Given the description of an element on the screen output the (x, y) to click on. 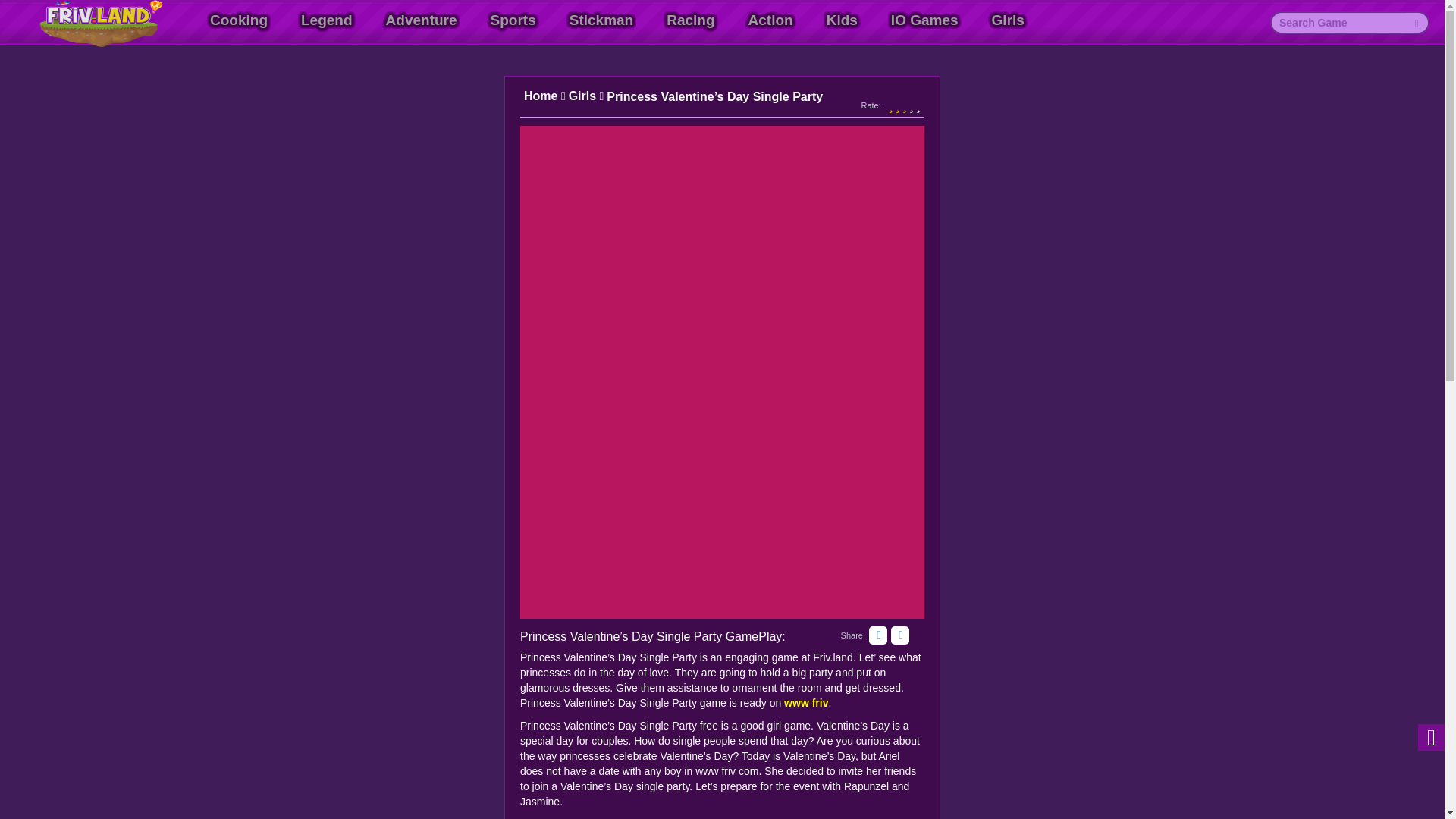
IO Games (924, 20)
Girls (586, 96)
Cooking (238, 20)
IO Games (924, 20)
Home (545, 96)
Legend (326, 20)
Legend (326, 20)
Sports (512, 20)
www (798, 702)
Adventure (421, 20)
